Given the description of an element on the screen output the (x, y) to click on. 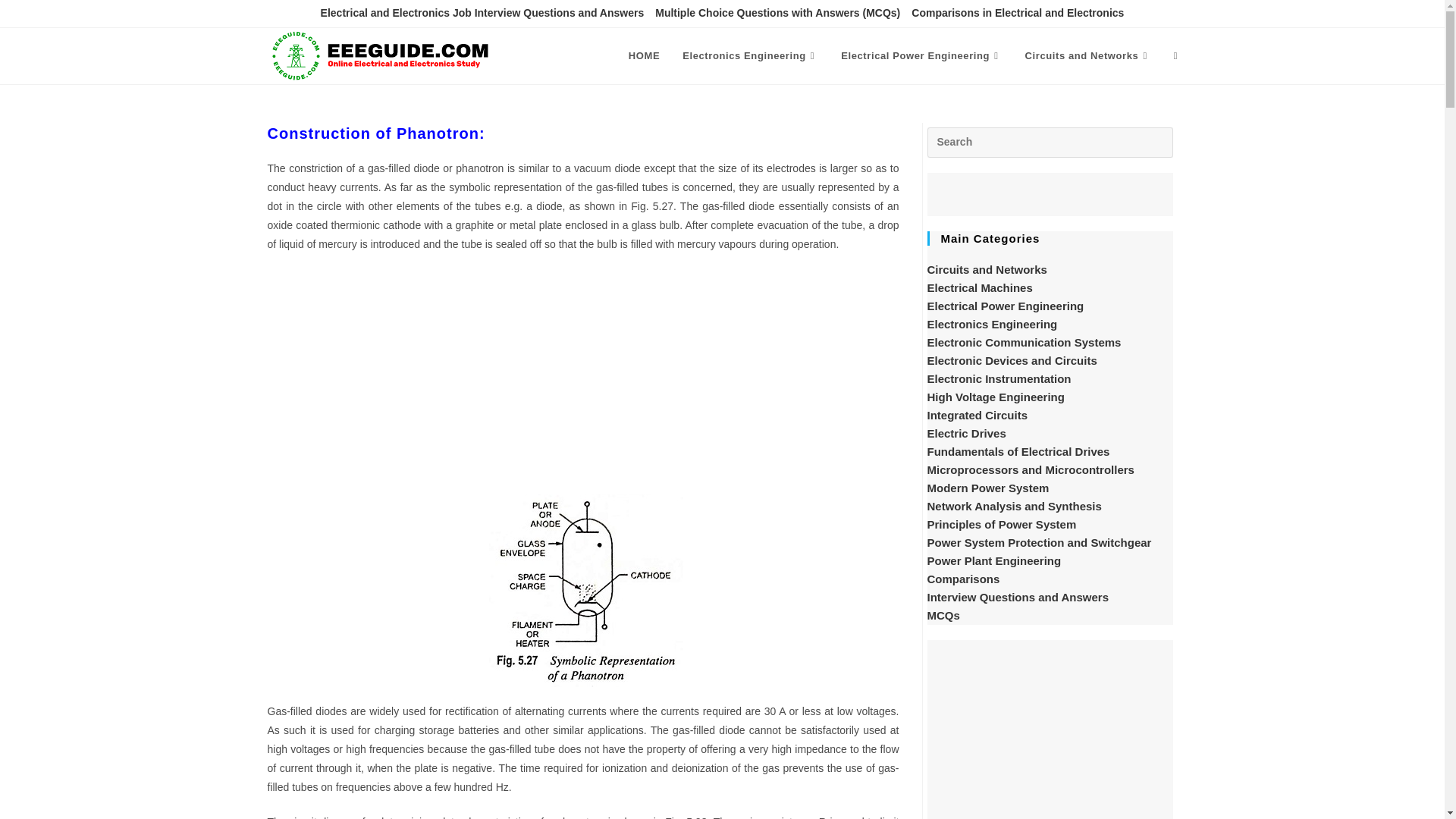
Electrical Power Engineering (921, 55)
Comparisons in Electrical and Electronics (1017, 13)
Electronics Engineering (750, 55)
Advertisement (582, 376)
HOME (644, 55)
Circuits and Networks (1087, 55)
